Given the description of an element on the screen output the (x, y) to click on. 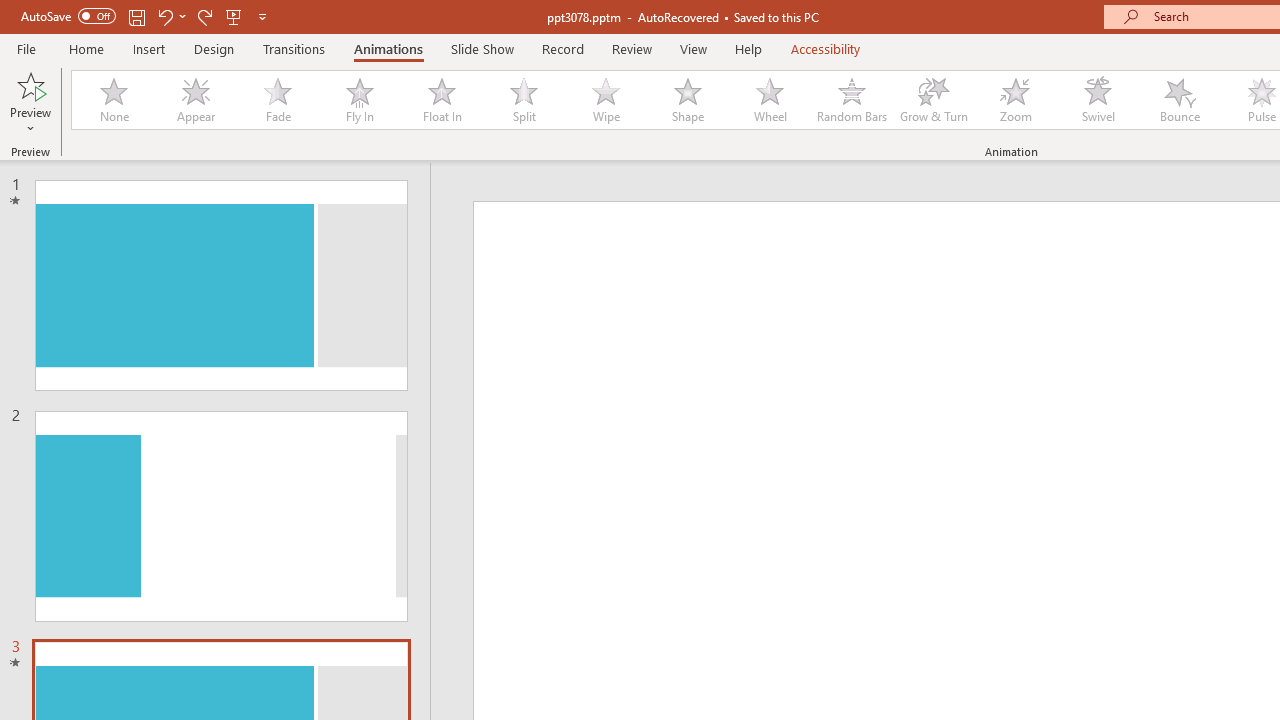
Appear (195, 100)
Wheel (770, 100)
Fade (277, 100)
Wipe (605, 100)
